Given the description of an element on the screen output the (x, y) to click on. 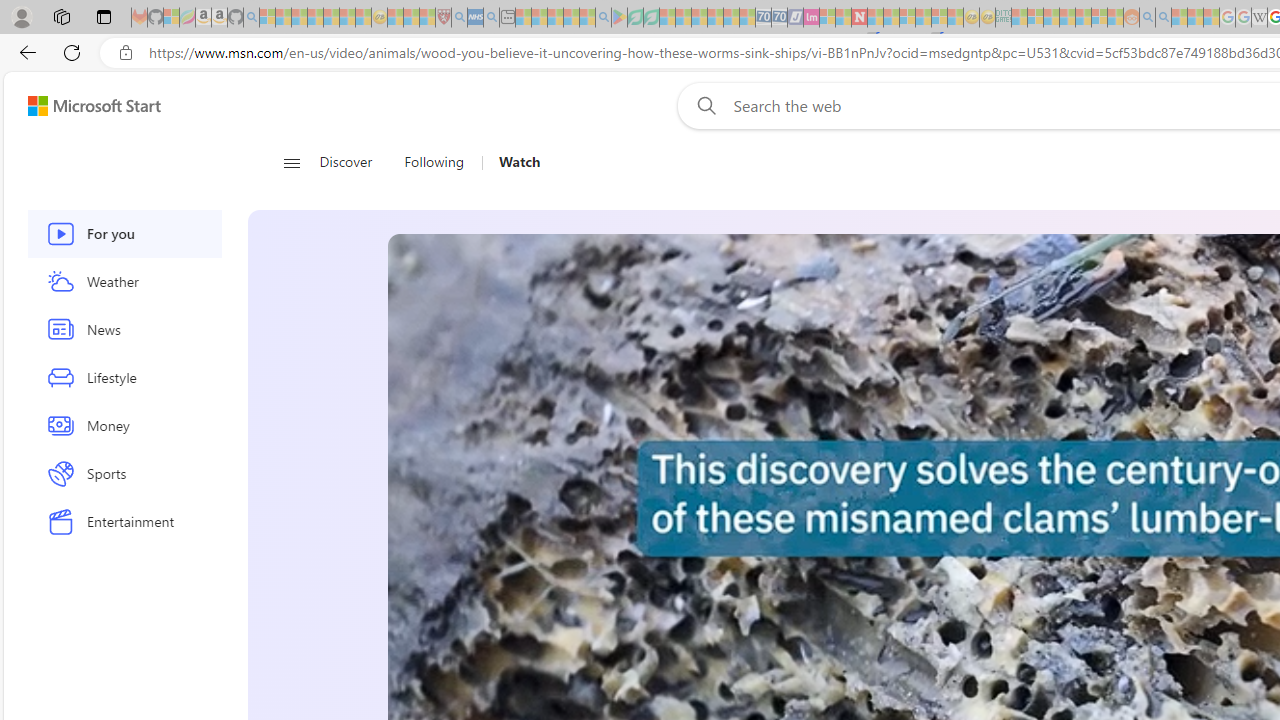
DITOGAMES AG Imprint - Sleeping (1003, 17)
Microsoft-Report a Concern to Bing - Sleeping (171, 17)
Trusted Community Engagement and Contributions | Guidelines (875, 17)
Cheap Car Rentals - Save70.com - Sleeping (763, 17)
The Weather Channel - MSN - Sleeping (299, 17)
Kinda Frugal - MSN - Sleeping (1083, 17)
Open navigation menu (291, 162)
Jobs - lastminute.com Investor Portal - Sleeping (811, 17)
Skip to footer (82, 105)
